Given the description of an element on the screen output the (x, y) to click on. 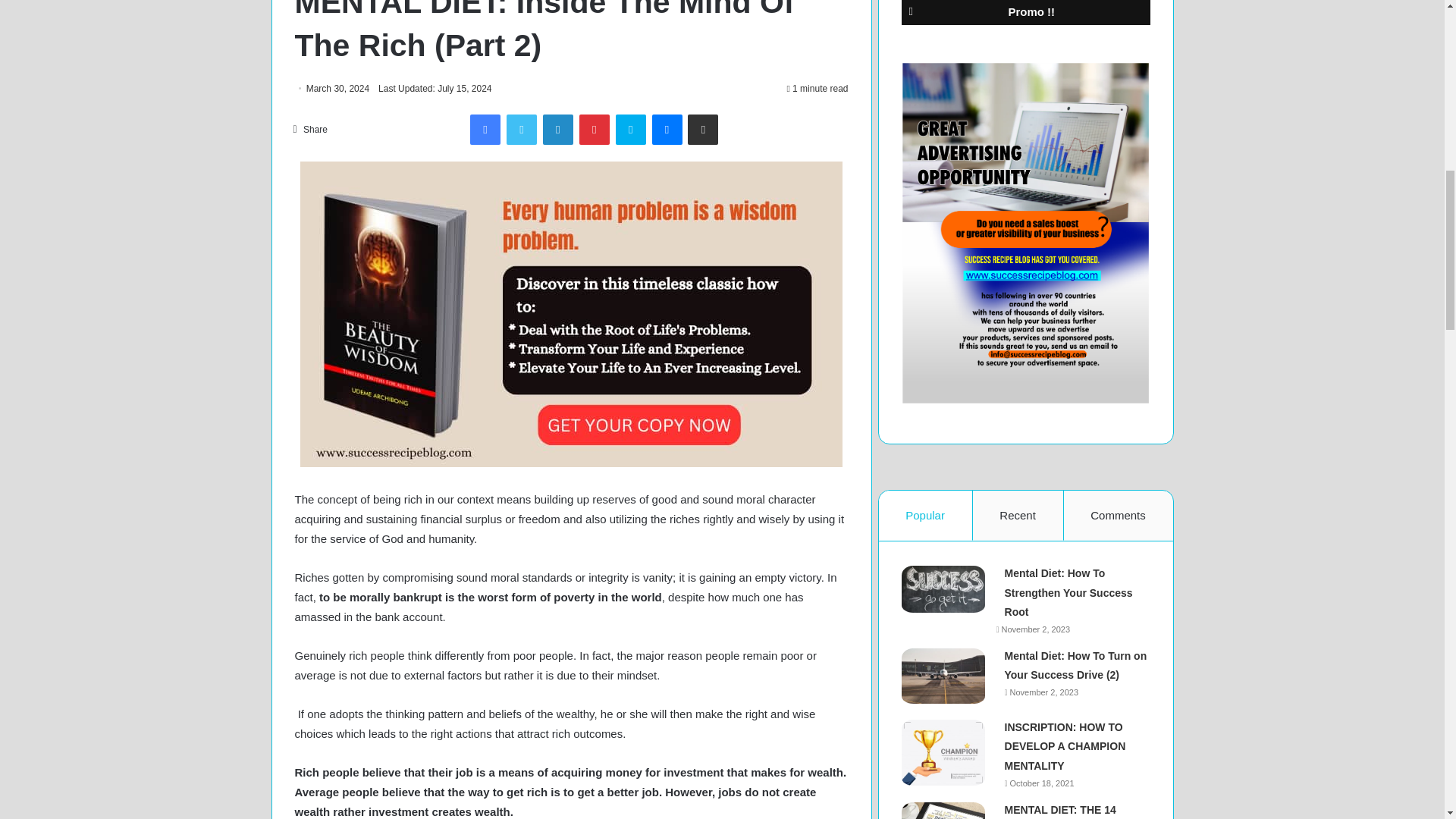
Messenger (667, 129)
Skype (630, 129)
Share via Email (702, 129)
Facebook (485, 129)
Twitter (521, 129)
LinkedIn (558, 129)
Pinterest (594, 129)
Facebook (485, 129)
Skype (630, 129)
LinkedIn (558, 129)
Twitter (521, 129)
Pinterest (594, 129)
